Given the description of an element on the screen output the (x, y) to click on. 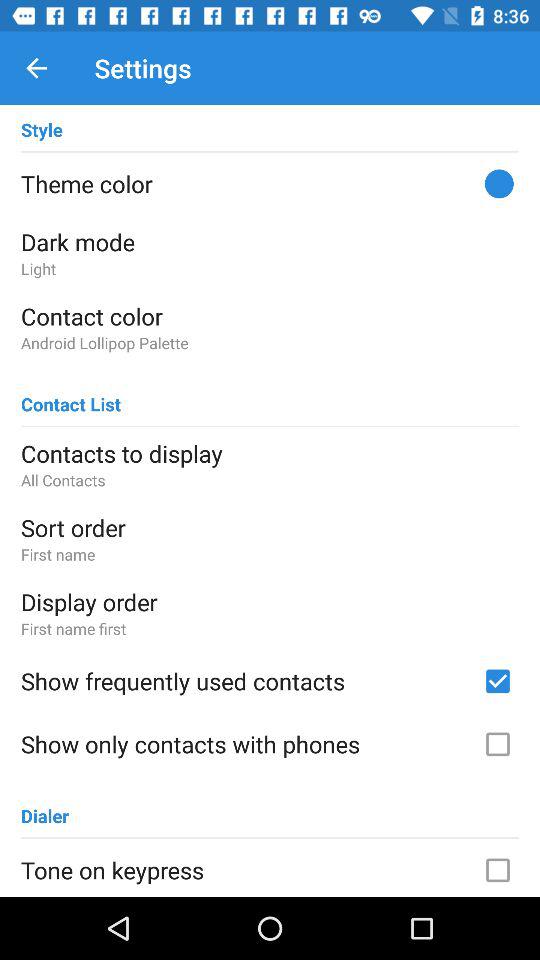
turn off icon at the bottom left corner (45, 806)
